Given the description of an element on the screen output the (x, y) to click on. 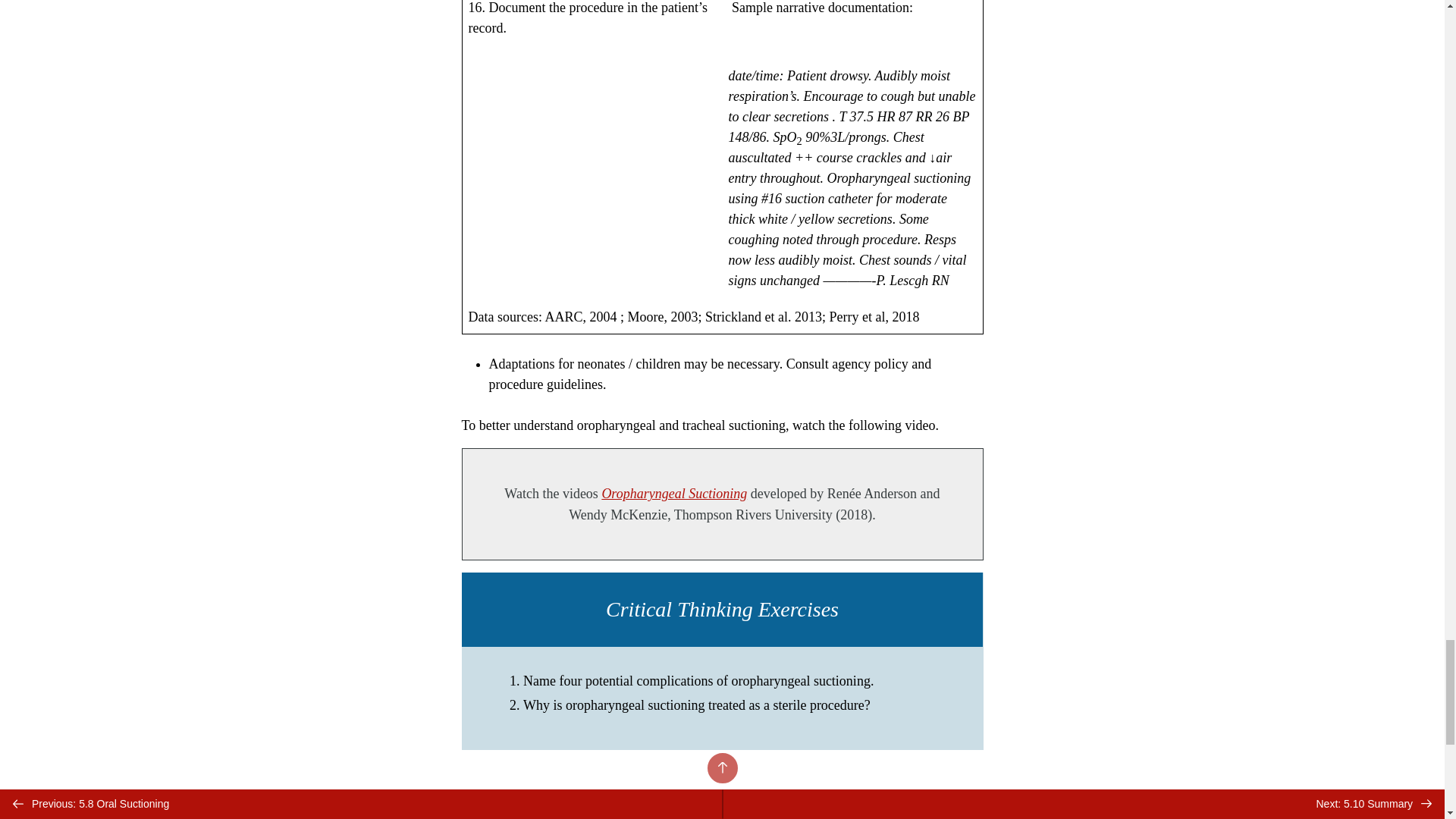
Oropharyngeal Suctioning (673, 493)
